Given the description of an element on the screen output the (x, y) to click on. 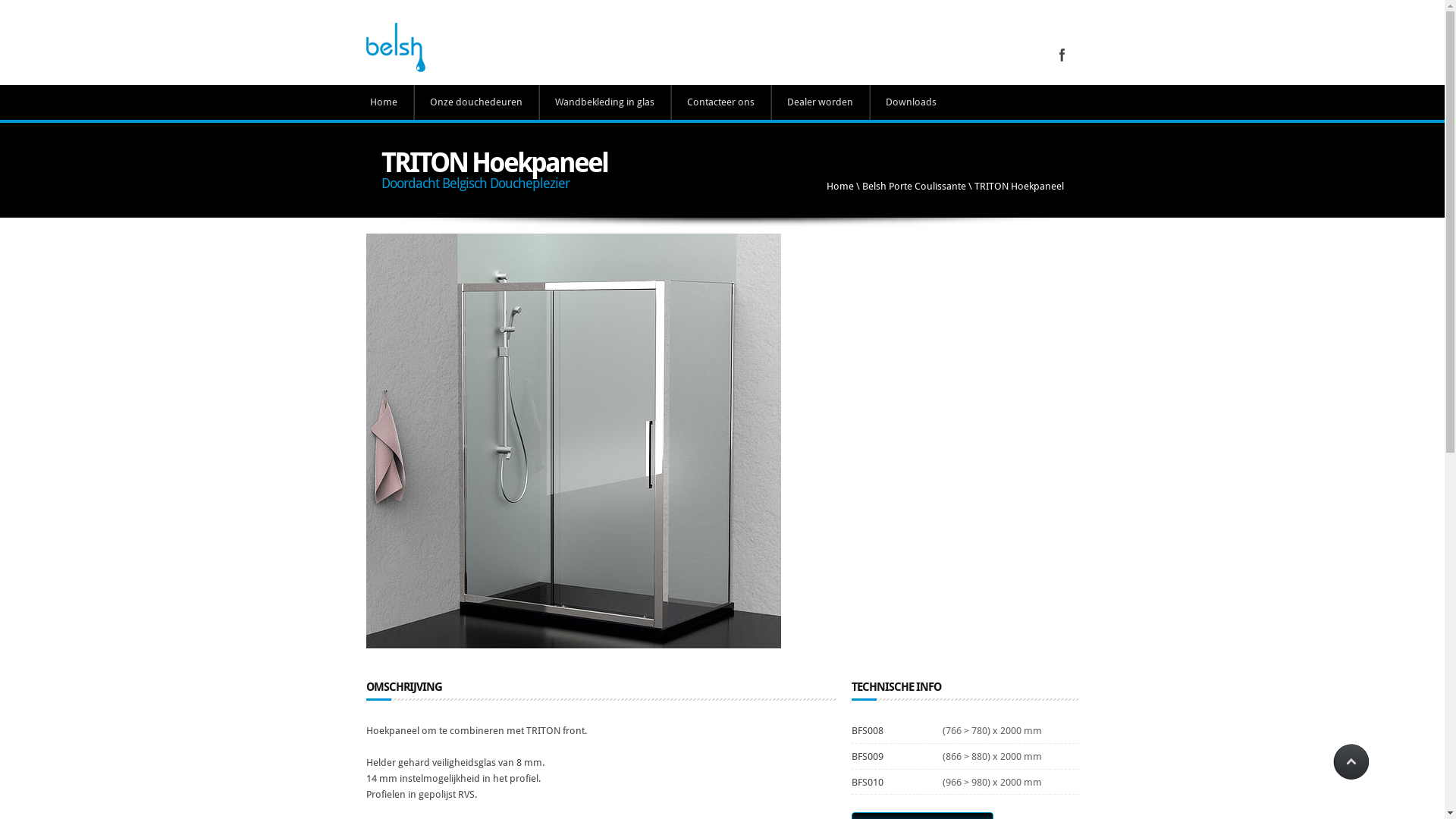
Scroll Element type: text (1349, 762)
Home Element type: text (839, 185)
Belsh Porte Coulissante Element type: text (913, 185)
Home Element type: text (383, 101)
Wandbekleding in glas Element type: text (603, 101)
Downloads Element type: text (909, 101)
Onze douchedeuren Element type: text (475, 101)
Dealer worden Element type: text (818, 101)
Contacteer ons Element type: text (719, 101)
